Given the description of an element on the screen output the (x, y) to click on. 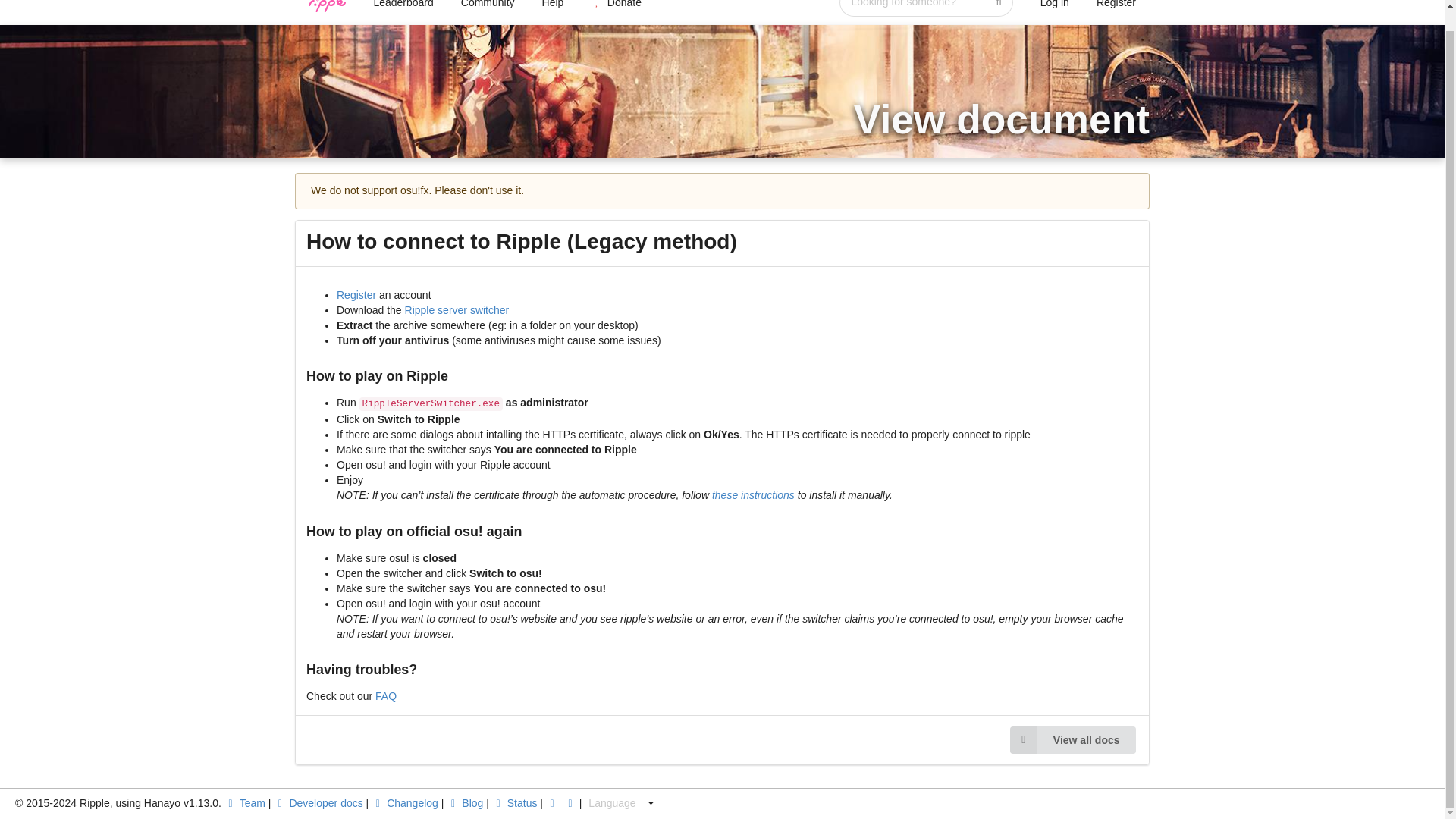
Blog (464, 802)
See what changed! (404, 802)
Follow us on Twitter! (571, 802)
Donate (615, 7)
these instructions (752, 494)
Changelog (404, 802)
Home page (327, 8)
What's going on under the hood? (553, 802)
Who is working on this thing? (244, 802)
View all docs (1072, 739)
FAQ (385, 695)
59 6f 75 27 72 65 20 73 6f 20 31 33 33 37 2e (317, 802)
Log in (1054, 7)
Register (355, 295)
Leaderboard (402, 7)
